Given the description of an element on the screen output the (x, y) to click on. 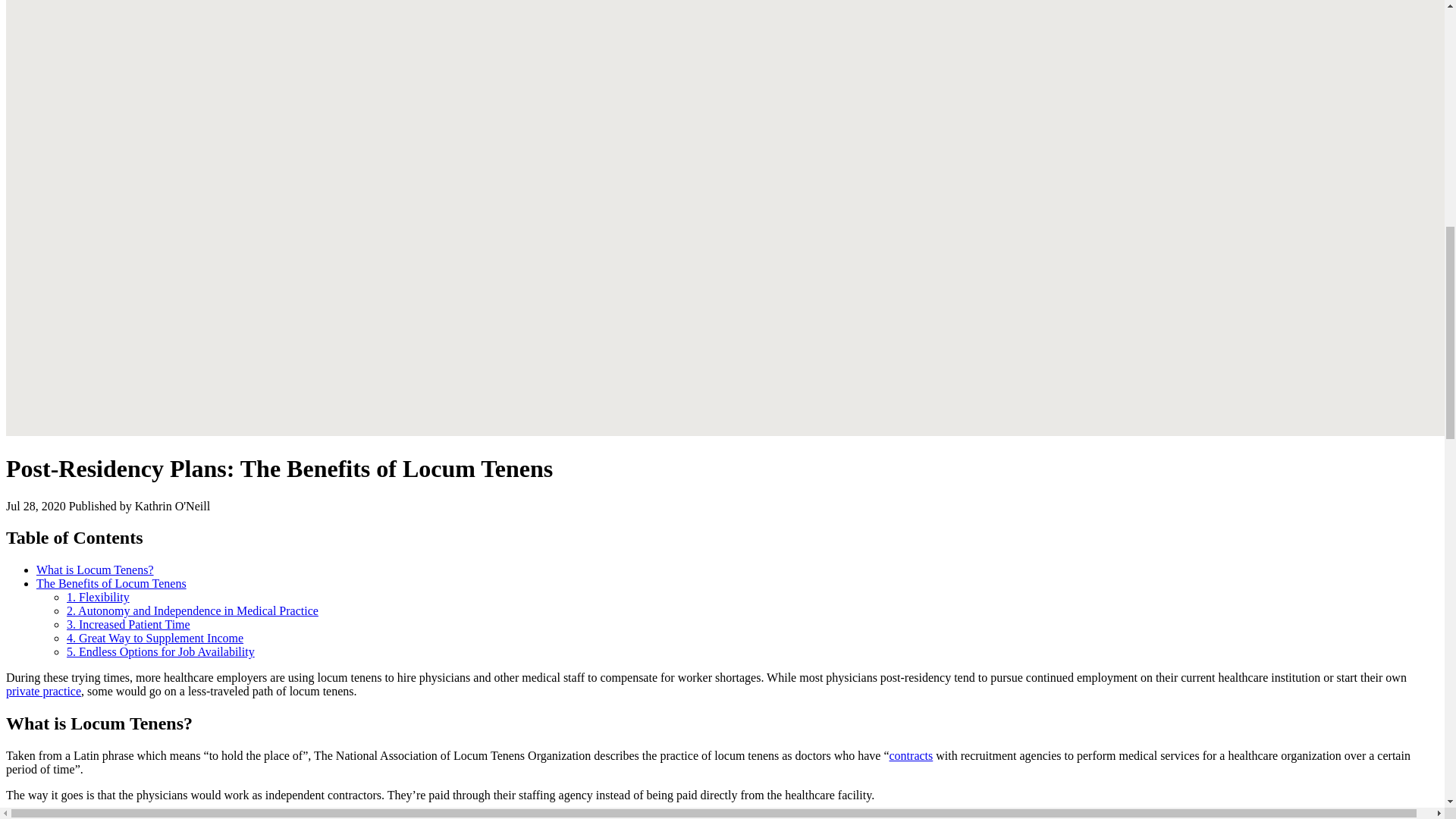
Medical Economics (694, 816)
private practice (43, 690)
What is Locum Tenens? (95, 569)
3. Increased Patient Time (128, 624)
5. Endless Options for Job Availability (160, 651)
2. Autonomy and Independence in Medical Practice (192, 610)
contracts (910, 755)
1. Flexibility (97, 596)
4. Great Way to Supplement Income (154, 637)
The Benefits of Locum Tenens (111, 583)
